Given the description of an element on the screen output the (x, y) to click on. 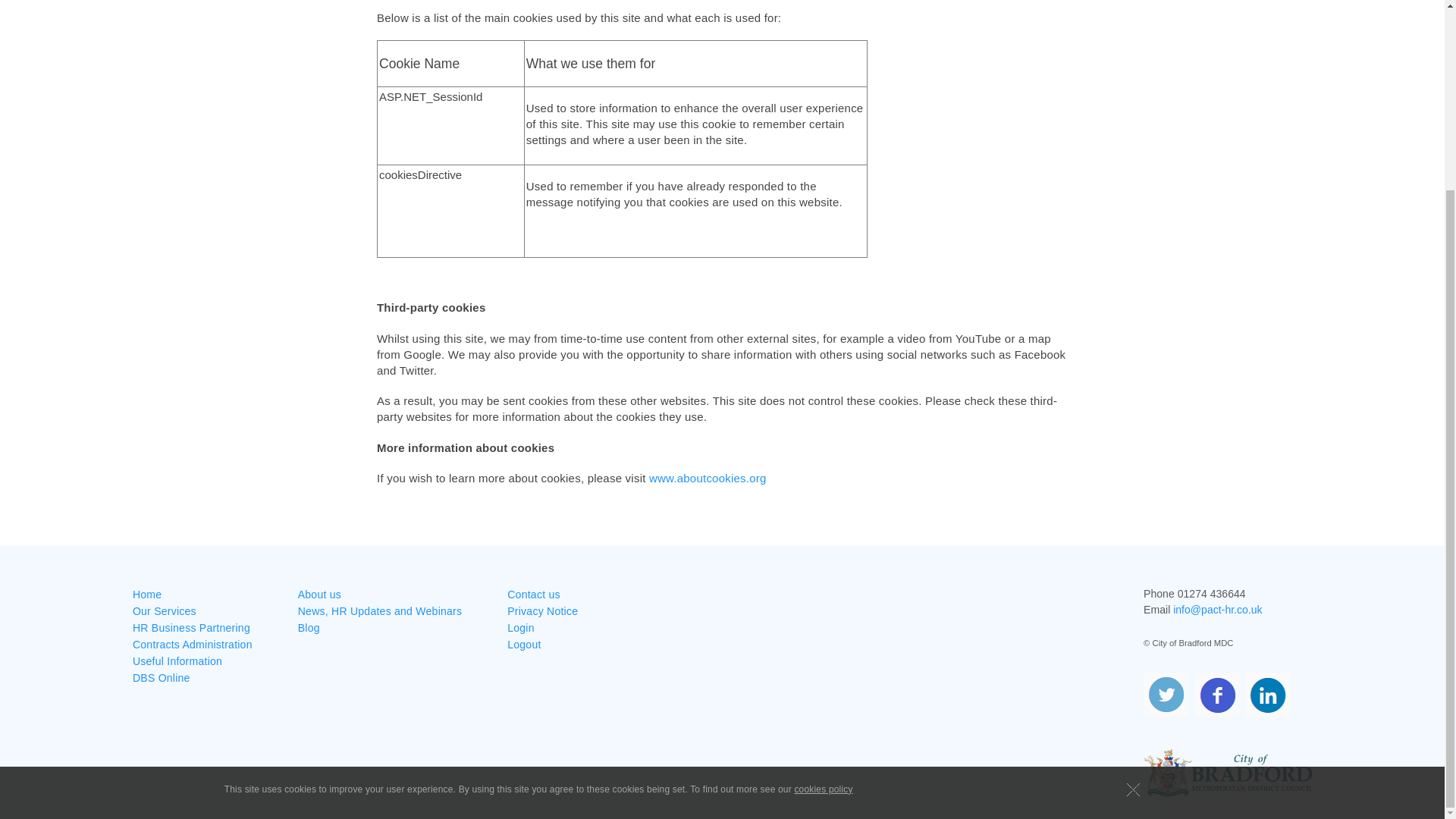
Our Services (164, 611)
Contracts Administration (191, 644)
OK, hide this message (1133, 552)
Contact us (532, 594)
About us (319, 594)
www.aboutcookies.org (708, 478)
Login (520, 627)
OK, hide this message (1133, 552)
Logout (523, 644)
HR Business Partnering (191, 627)
Home (146, 594)
Blog (309, 627)
News, HR Updates and Webinars (380, 611)
cookies policy (822, 552)
Privacy Notice (542, 611)
